Given the description of an element on the screen output the (x, y) to click on. 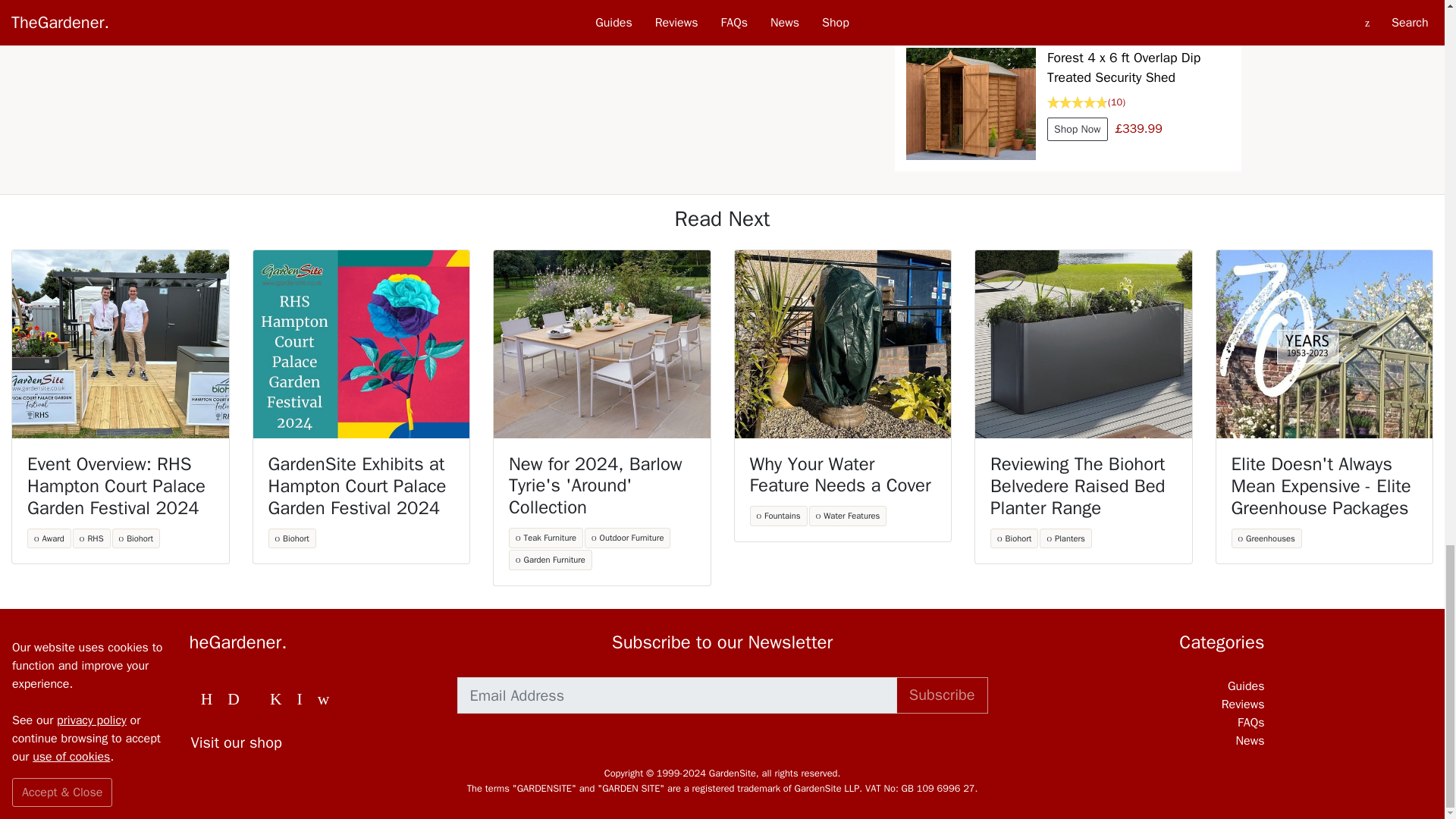
TheGardener. (306, 642)
Based on 10 reviews (1138, 102)
Forest 4 x 6 ft Overlap Dip Treated Security Shed (970, 103)
Forest Harvington 5ft Bench (970, 6)
